Given the description of an element on the screen output the (x, y) to click on. 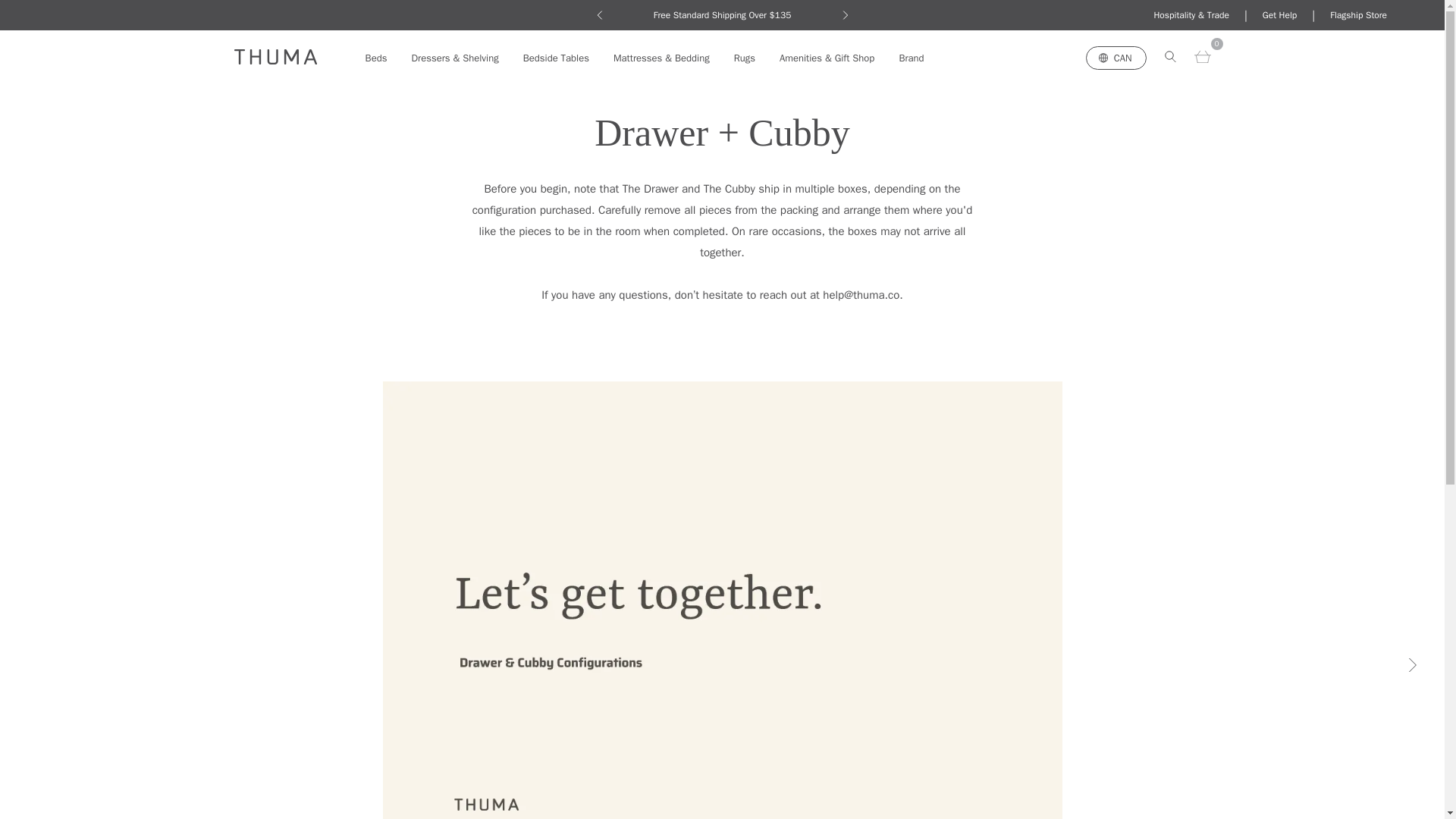
Get Help (1279, 14)
Bedside Tables (555, 57)
Brand (910, 57)
Rugs (744, 57)
Flagship Store (1358, 14)
Flagship Store (1358, 14)
Get Help (1279, 14)
Beds (376, 57)
CAN (1116, 56)
